Given the description of an element on the screen output the (x, y) to click on. 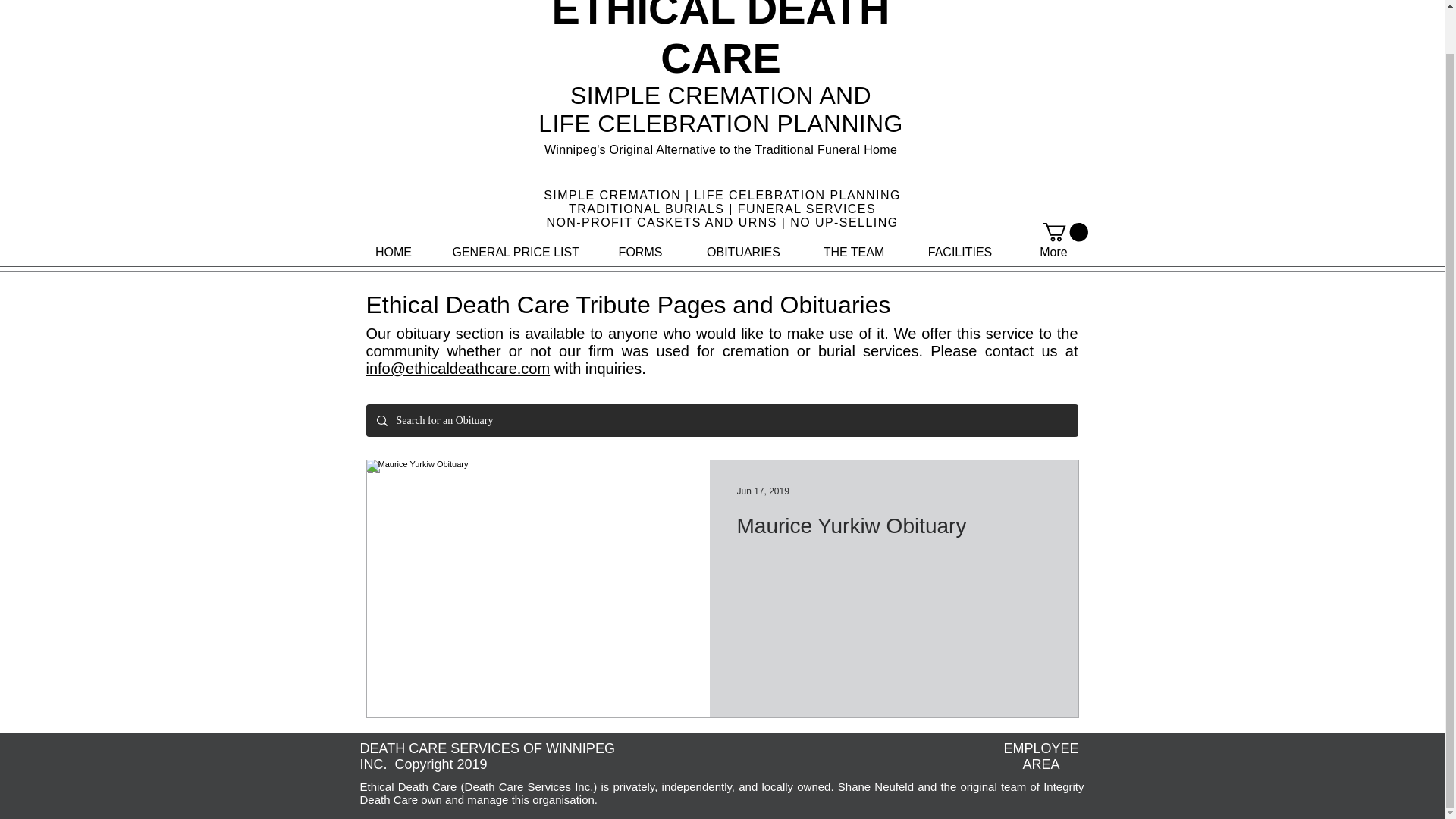
Maurice Yurkiw Obituary (893, 530)
HOME (392, 252)
THE TEAM (852, 252)
Jun 17, 2019 (762, 491)
OBITUARIES (742, 252)
EMPLOYEE AREA (1040, 756)
